Given the description of an element on the screen output the (x, y) to click on. 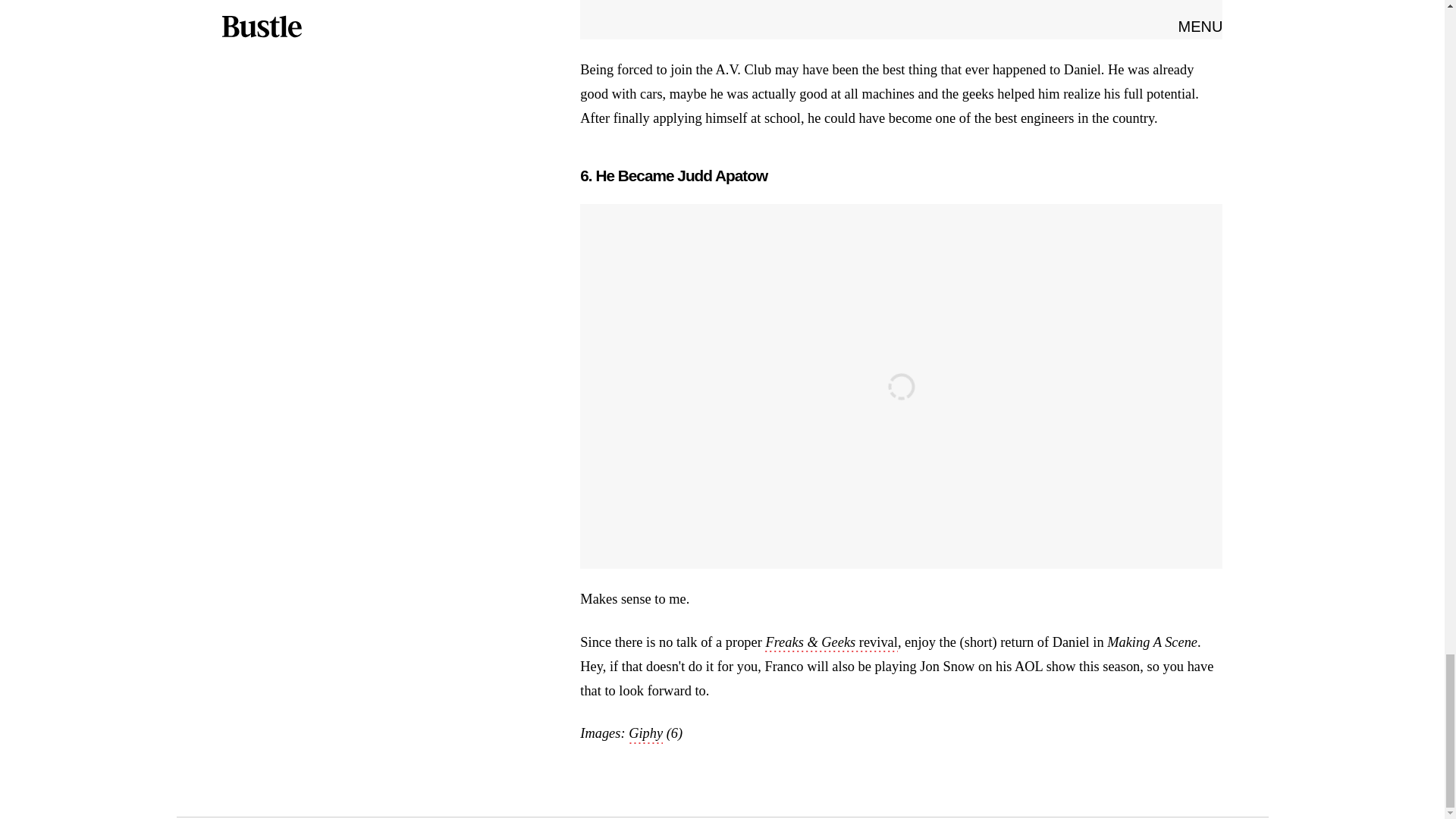
Giphy (645, 734)
